Given the description of an element on the screen output the (x, y) to click on. 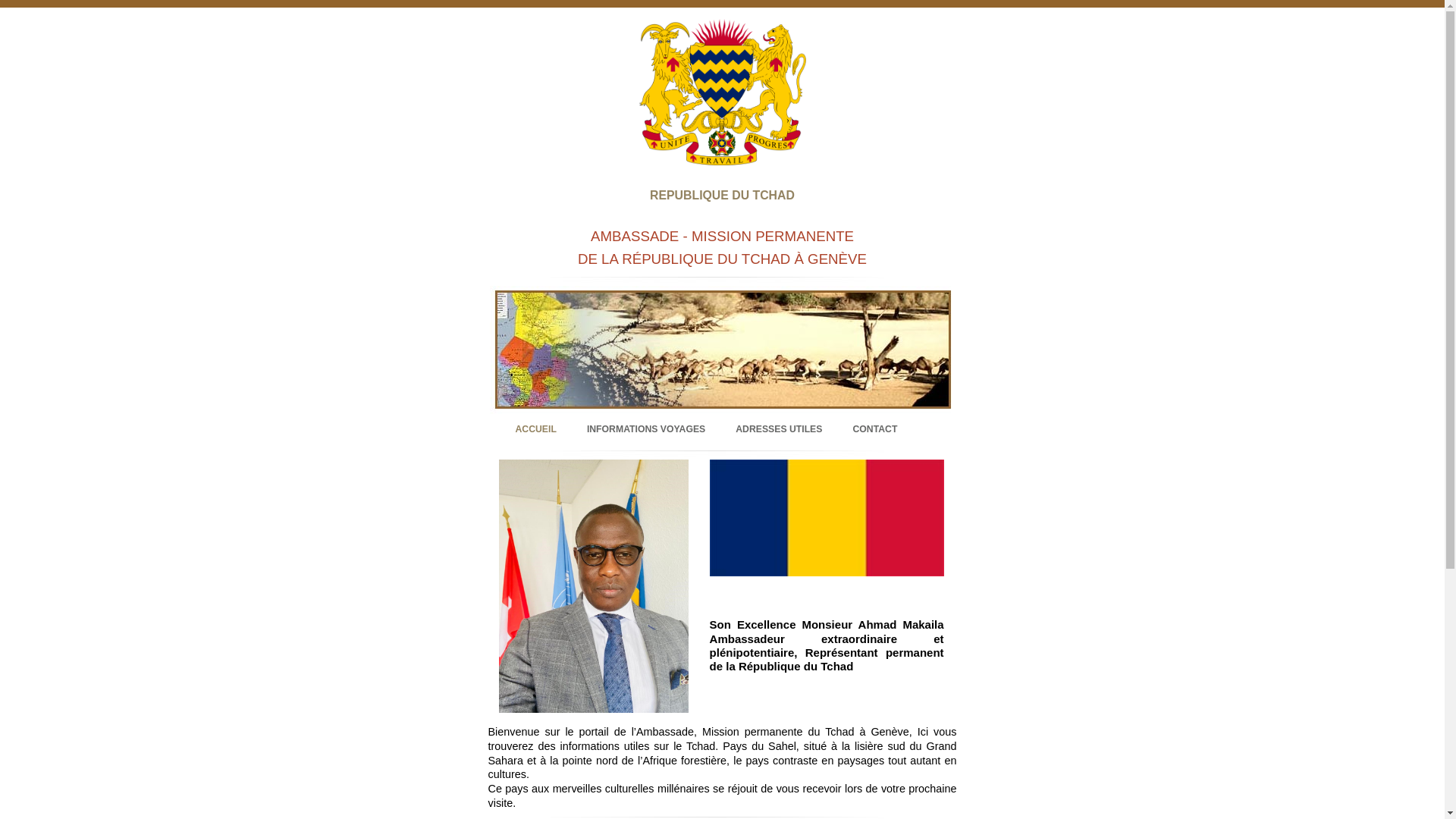
CONTACT Element type: text (874, 428)
ADRESSES UTILES Element type: text (778, 428)
INFORMATIONS VOYAGES Element type: text (645, 428)
ACCUEIL Element type: text (535, 428)
